Given the description of an element on the screen output the (x, y) to click on. 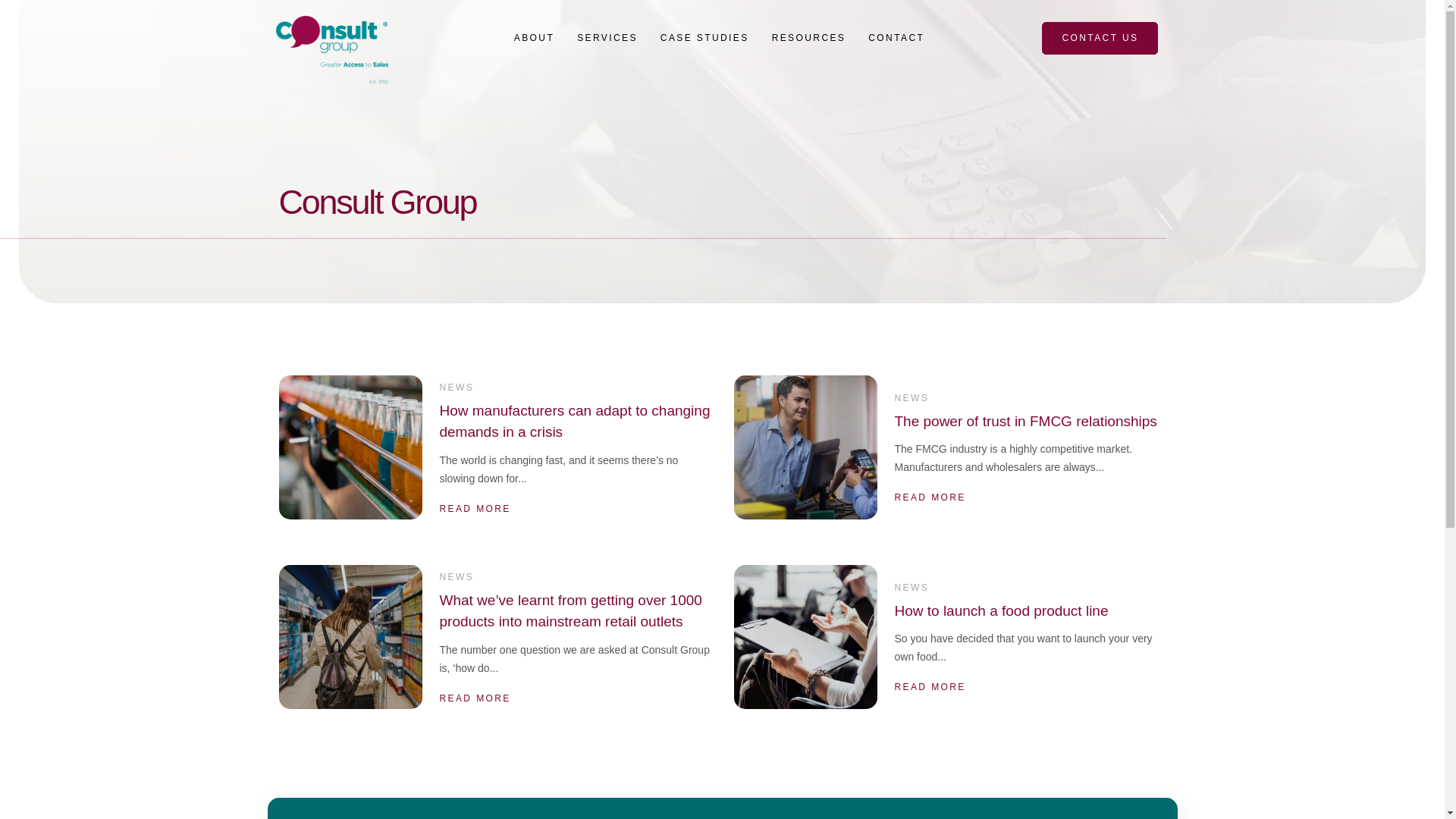
CONTACT (895, 37)
RESOURCES (808, 36)
CASE STUDIES (705, 35)
SERVICES (606, 25)
ABOUT (533, 17)
